Given the description of an element on the screen output the (x, y) to click on. 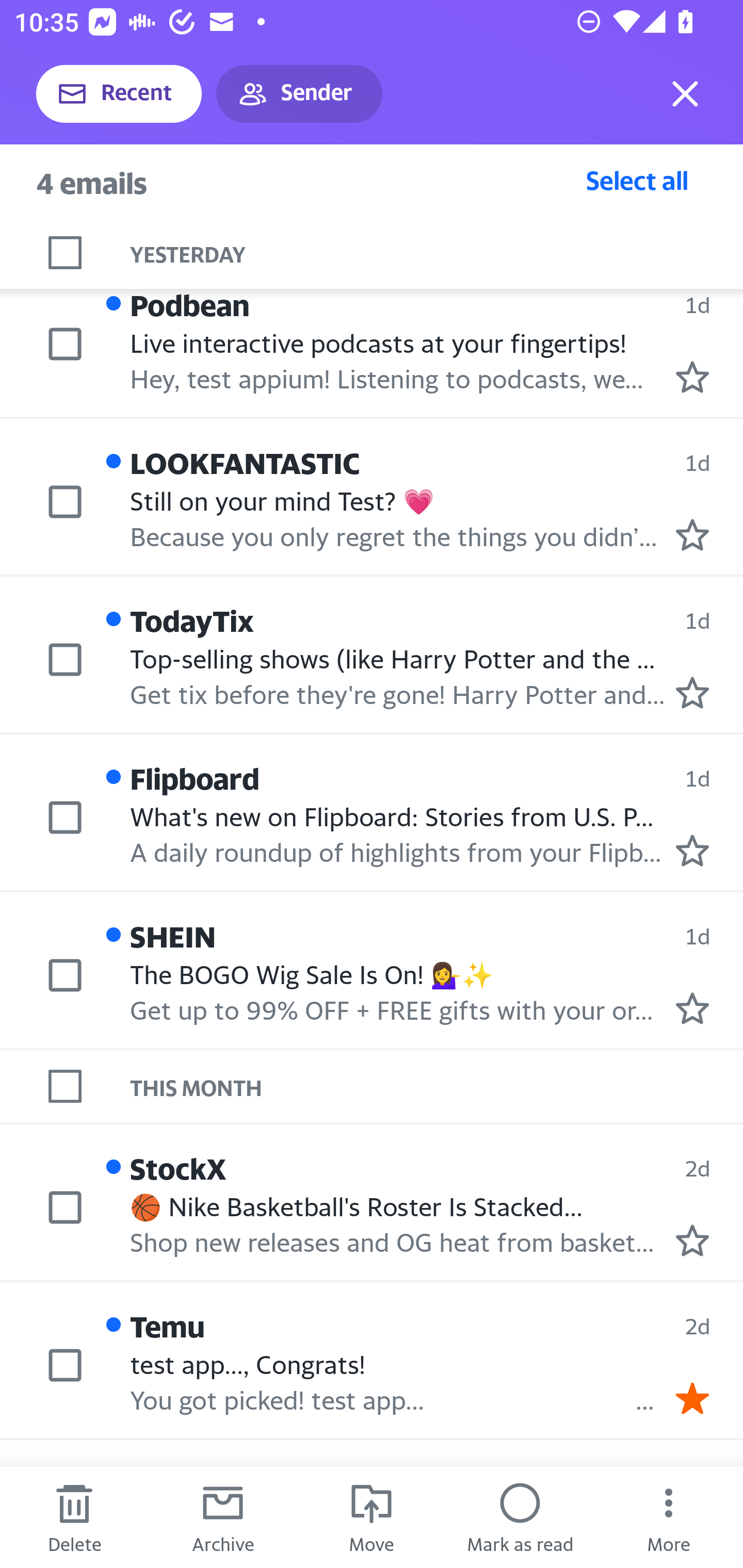
Sender (299, 93)
Exit selection mode (684, 93)
Select all (637, 180)
Mark as starred. (692, 377)
Mark as starred. (692, 535)
Mark as starred. (692, 692)
Mark as starred. (692, 850)
Mark as starred. (692, 1008)
THIS MONTH (436, 1085)
Mark as starred. (692, 1241)
Remove star. (692, 1397)
Delete (74, 1517)
Archive (222, 1517)
Move (371, 1517)
Mark as read (519, 1517)
More (668, 1517)
